Given the description of an element on the screen output the (x, y) to click on. 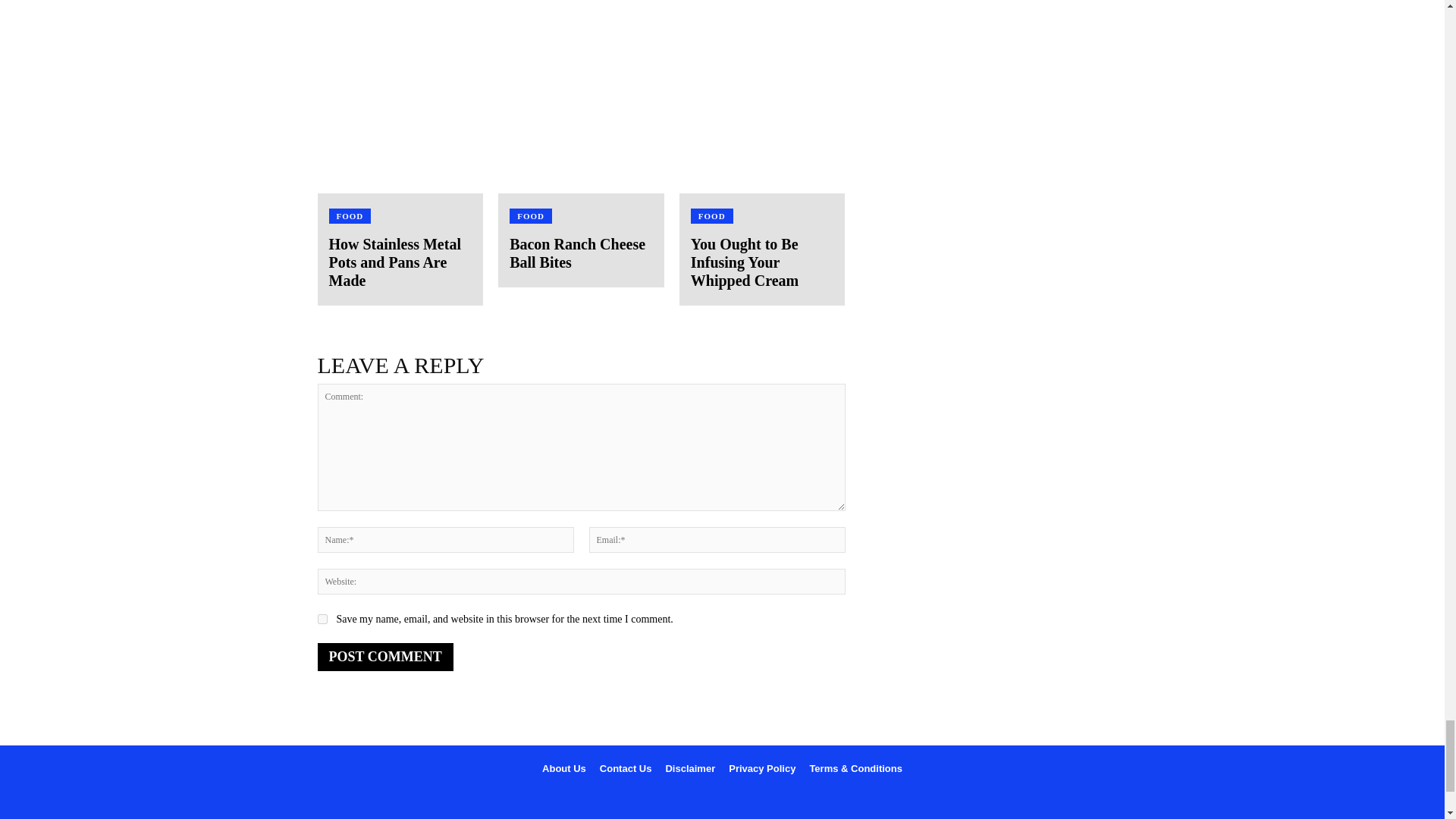
yes (321, 619)
Post Comment (384, 656)
How Stainless Metal Pots and Pans Are Made (395, 262)
